Given the description of an element on the screen output the (x, y) to click on. 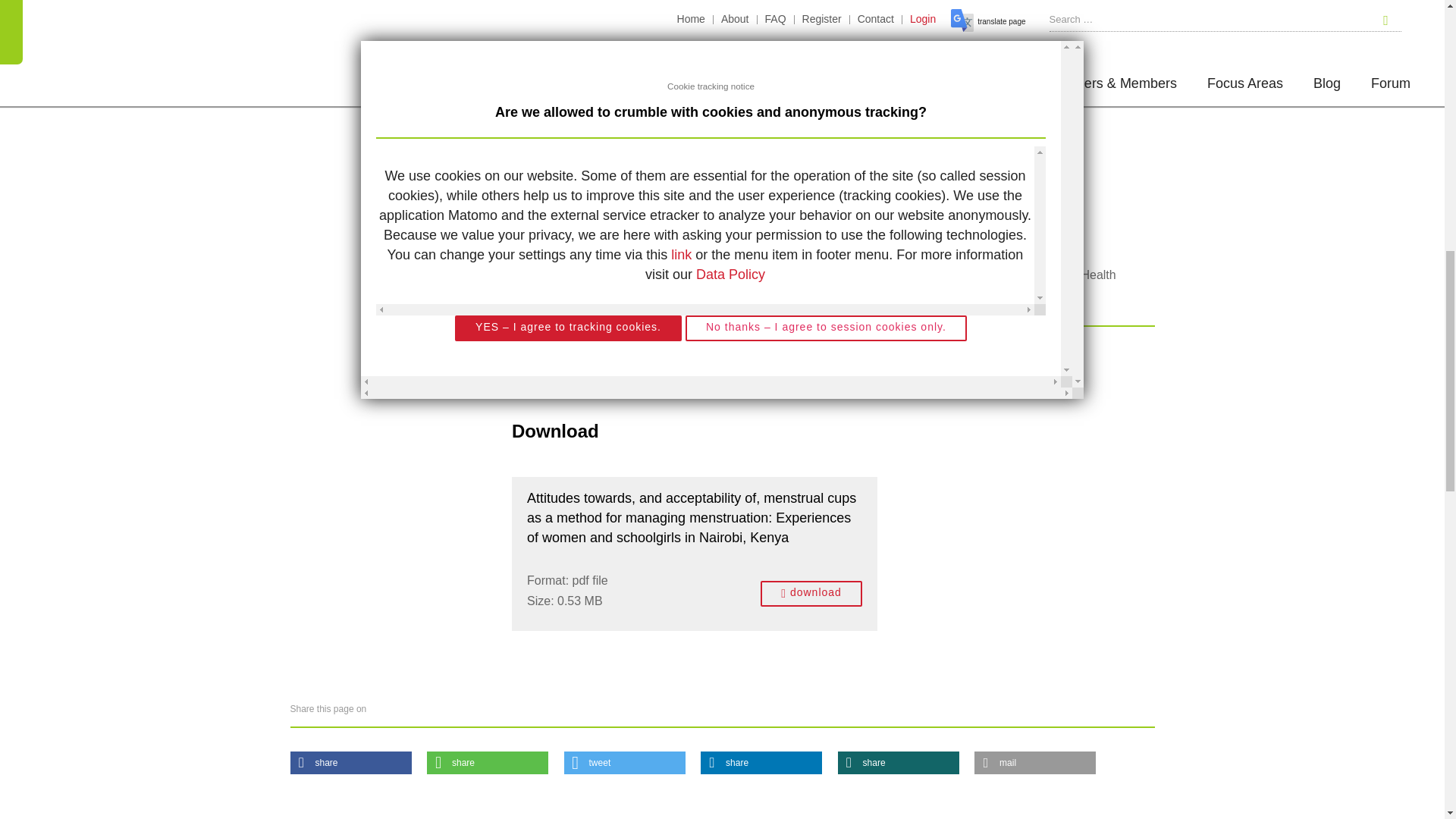
tweet (624, 762)
share (487, 762)
Share on Whatsapp (487, 762)
Send by email (1035, 762)
Share on LinkedIn (761, 762)
Share on Facebook (349, 762)
Share on XING (898, 762)
share (349, 762)
Share on Twitter (624, 762)
share (761, 762)
